Given the description of an element on the screen output the (x, y) to click on. 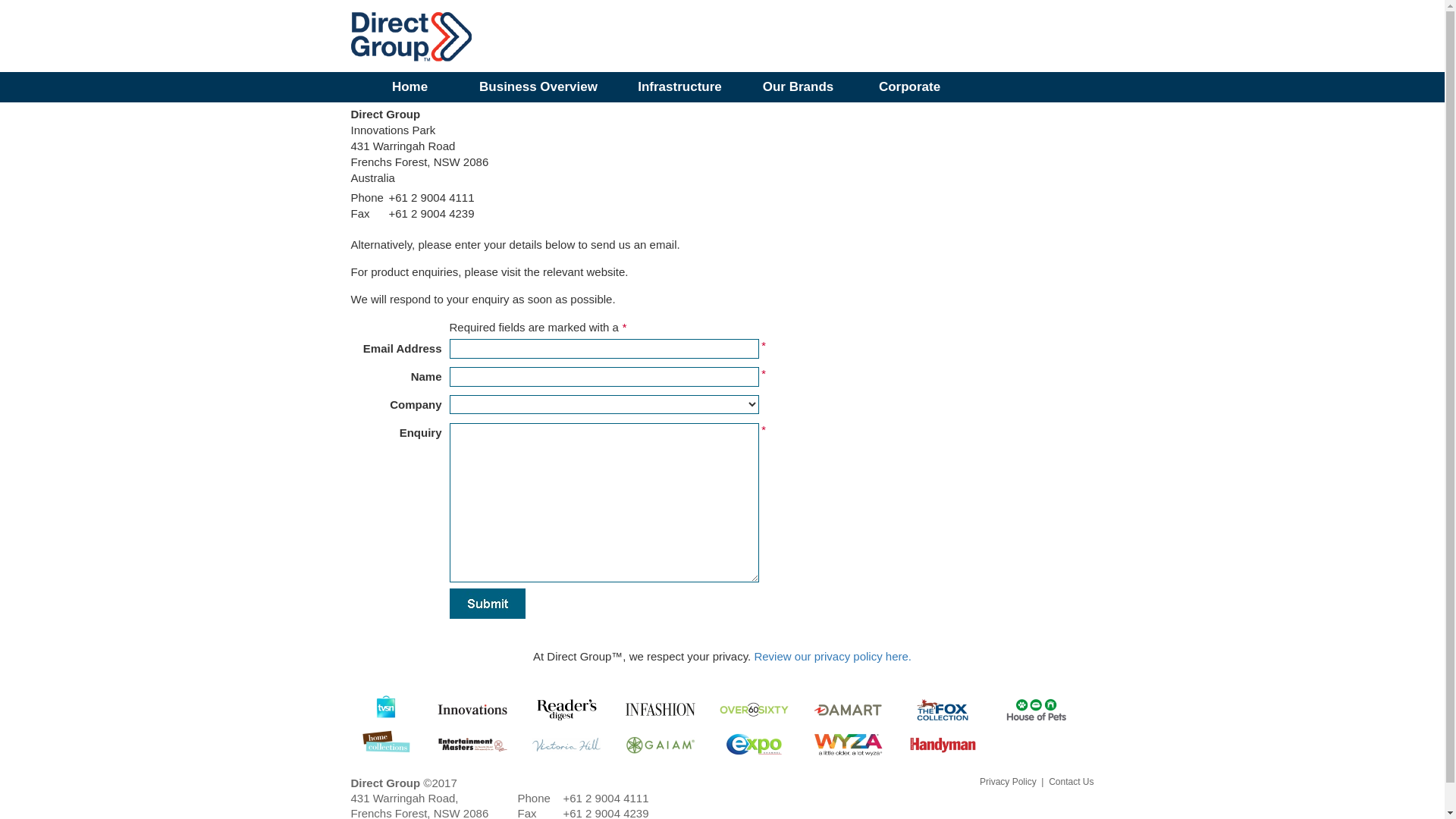
Business Overview Element type: text (537, 87)
Home Element type: text (409, 87)
Submit Element type: hover (486, 603)
Our Brands Element type: text (797, 87)
Contact Us Element type: text (1070, 781)
Review our privacy policy here. Element type: text (832, 655)
Infrastructure Element type: text (679, 87)
Privacy Policy Element type: text (1007, 781)
Corporate Element type: text (909, 87)
